Given the description of an element on the screen output the (x, y) to click on. 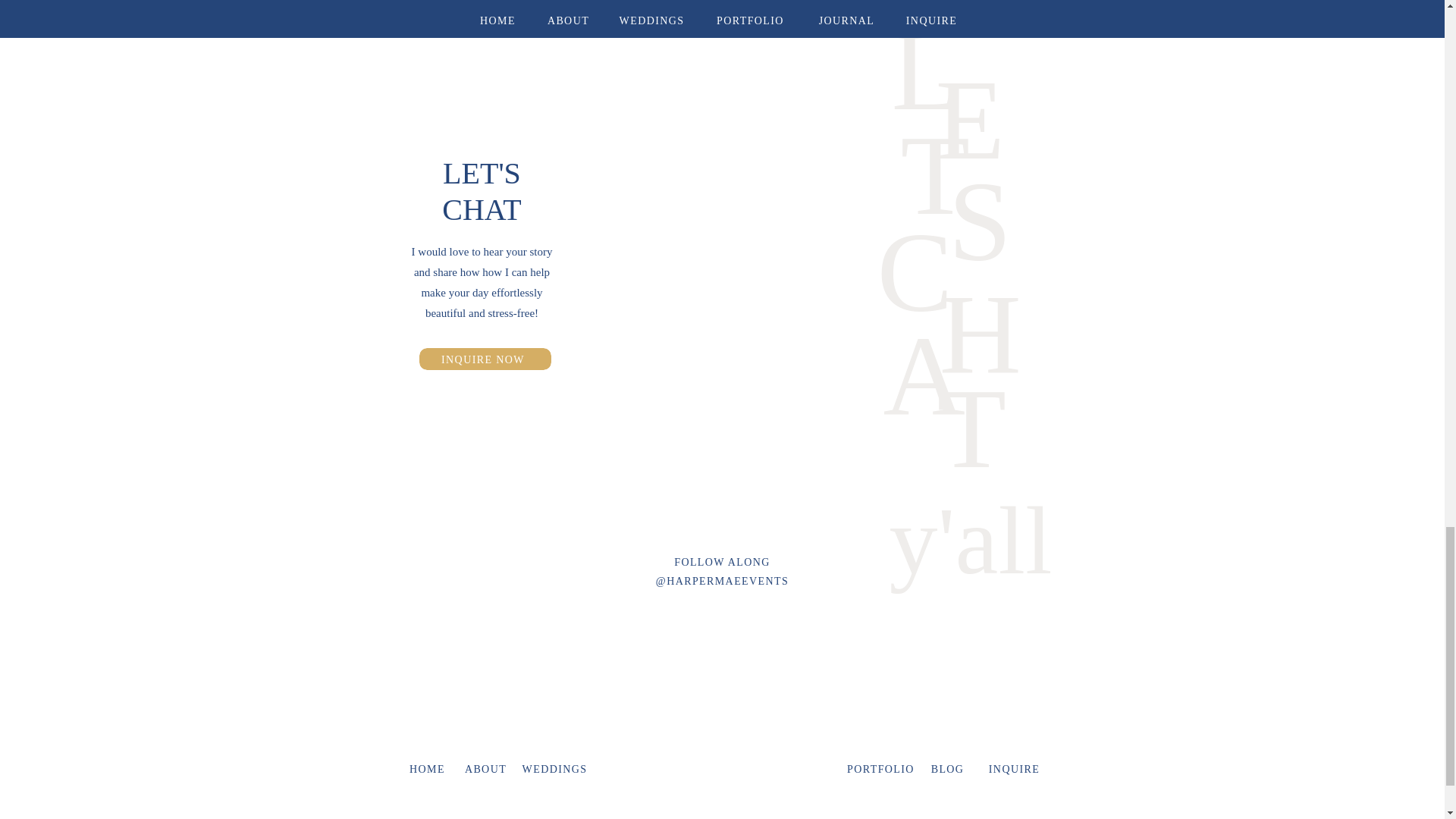
INQUIRE (1014, 766)
PORTFOLIO (880, 766)
INQUIRE NOW (483, 360)
WEDDINGS (554, 766)
HOME (426, 766)
ABOUT (485, 766)
BLOG (947, 766)
